Given the description of an element on the screen output the (x, y) to click on. 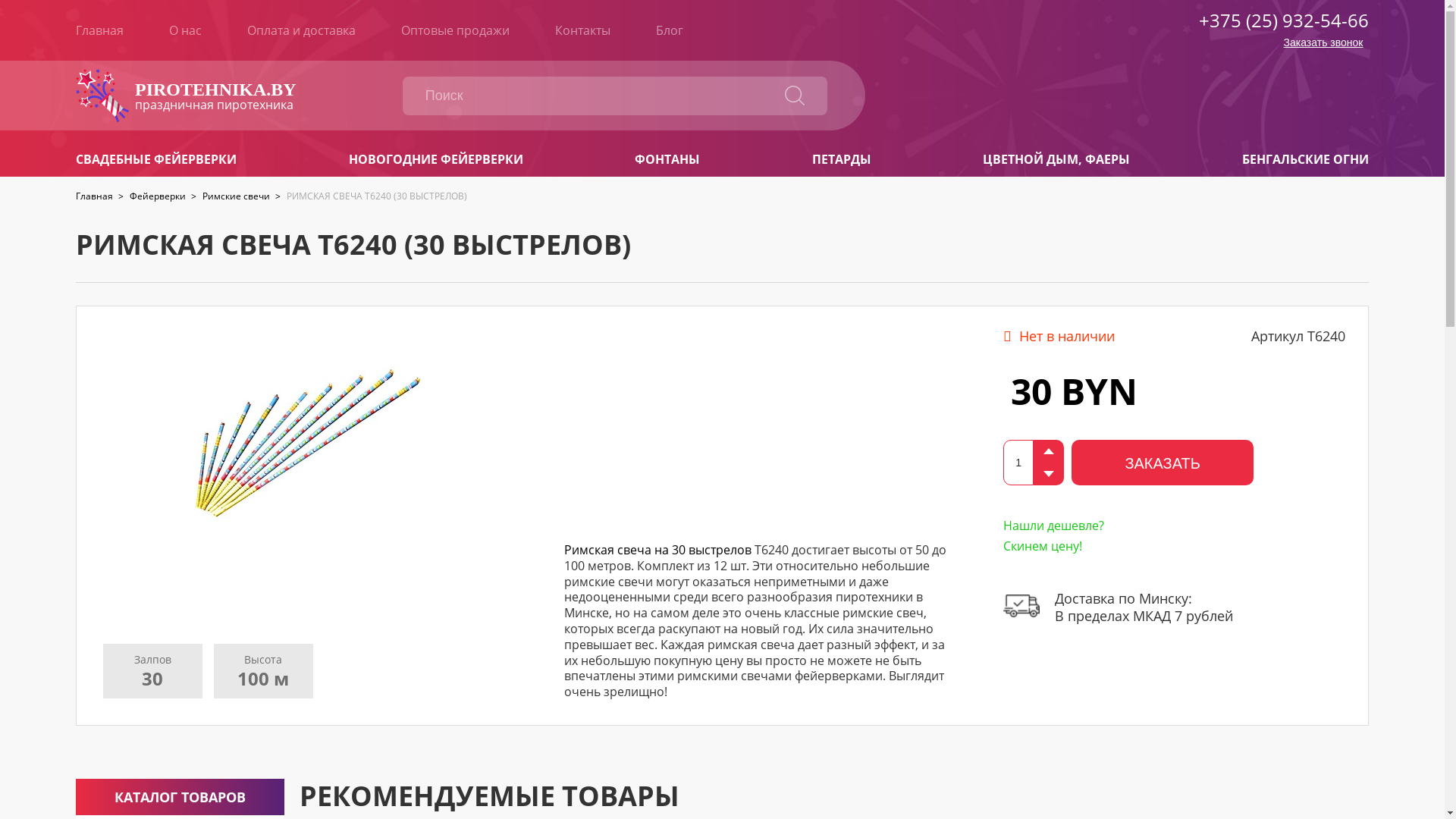
+375 (25) 932-54-66 Element type: text (1283, 20)
